Given the description of an element on the screen output the (x, y) to click on. 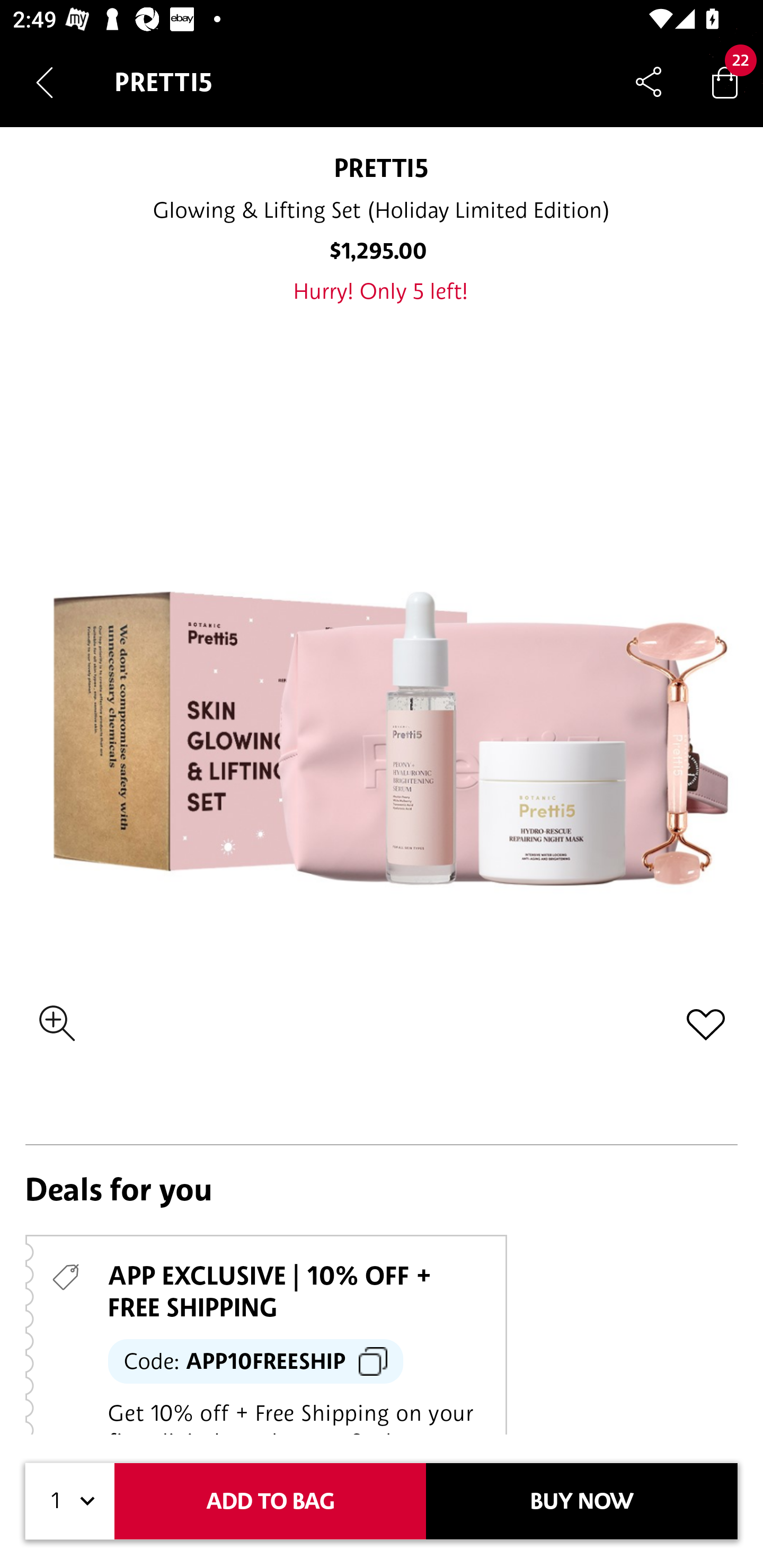
Navigate up (44, 82)
Share (648, 81)
Bag (724, 81)
PRETTI5 (381, 167)
1 (69, 1500)
ADD TO BAG (269, 1500)
BUY NOW (581, 1500)
